Given the description of an element on the screen output the (x, y) to click on. 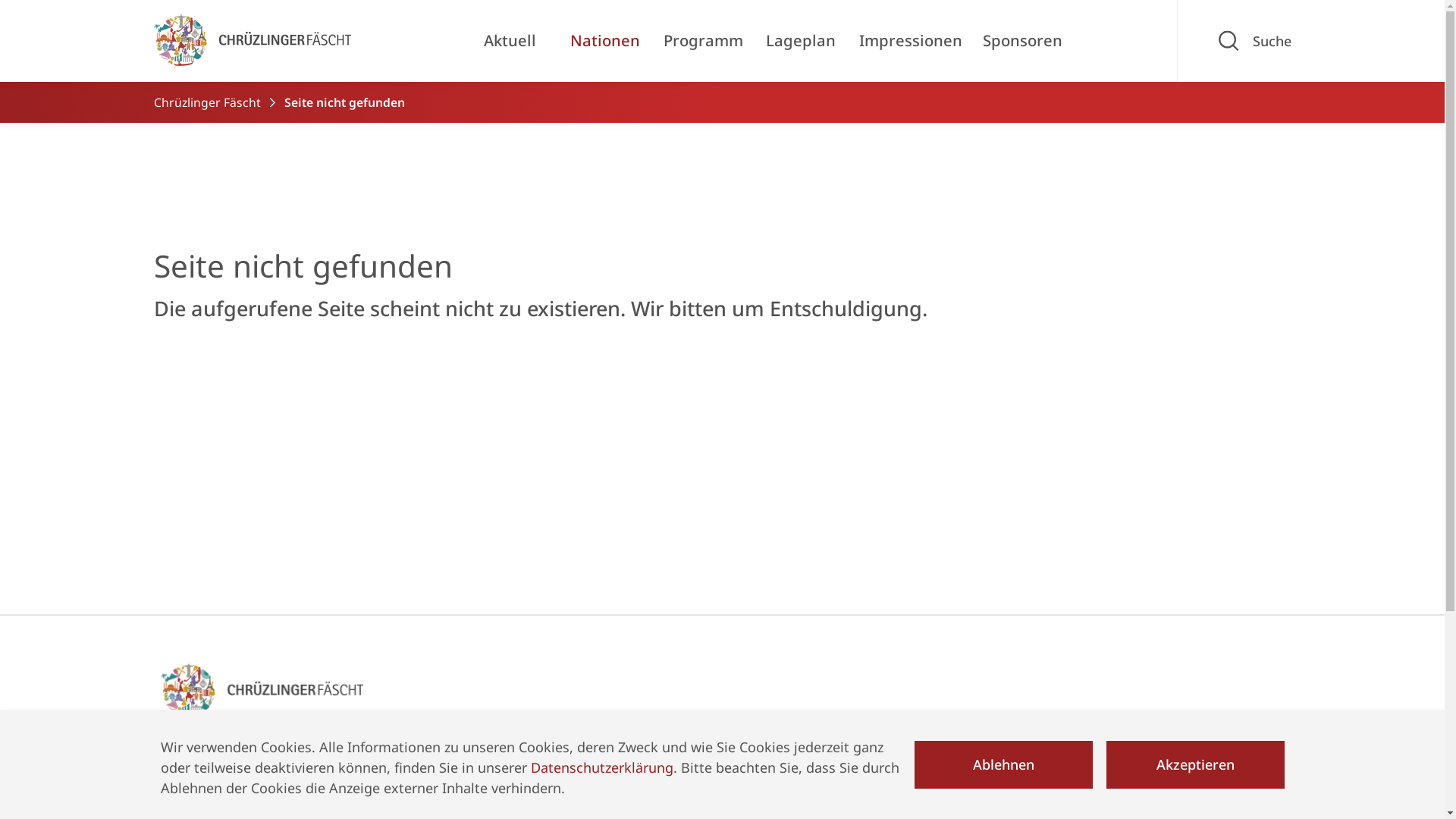
Ablehnen Element type: text (1003, 763)
Aktuell Element type: text (509, 40)
Programm Element type: text (703, 40)
Akzeptieren Element type: text (1194, 763)
Logo_Chruezlinger_Faescht_RGB Element type: hover (251, 40)
Lageplan Element type: text (800, 40)
Aktuell Element type: text (459, 773)
Nationen Element type: text (466, 801)
Logo_Chruezlinger_Faescht_RGB Element type: hover (261, 690)
Sponsoren Element type: text (1022, 40)
Nationen Element type: text (605, 40)
Impressionen Element type: text (910, 40)
